Given the description of an element on the screen output the (x, y) to click on. 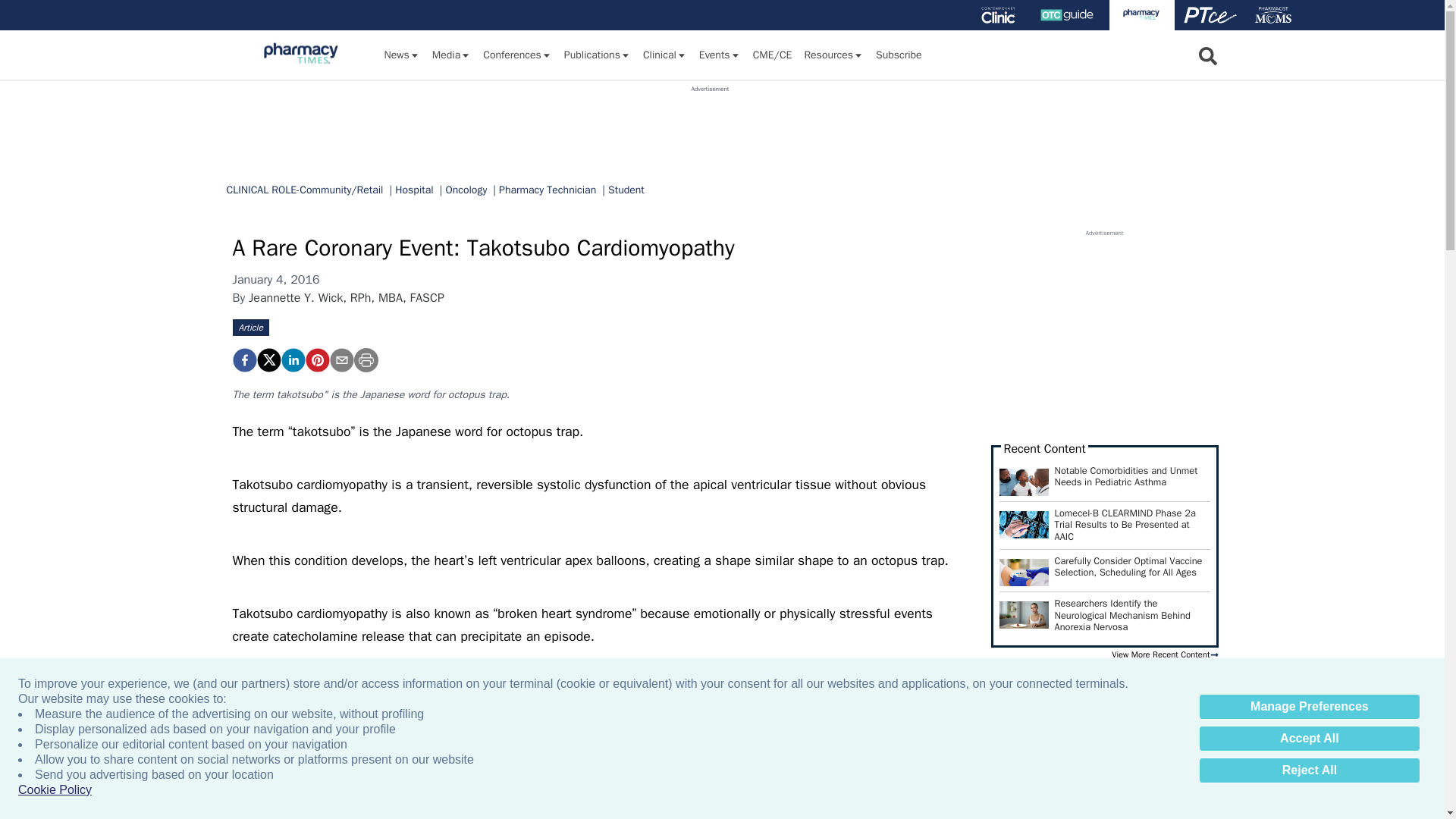
Manage Preferences (1309, 706)
Reject All (1309, 769)
Accept All (1309, 738)
Cookie Policy (54, 789)
A Rare Coronary Event: Takotsubo Cardiomyopathy (316, 360)
A Rare Coronary Event: Takotsubo Cardiomyopathy (243, 360)
3rd party ad content (709, 127)
